Given the description of an element on the screen output the (x, y) to click on. 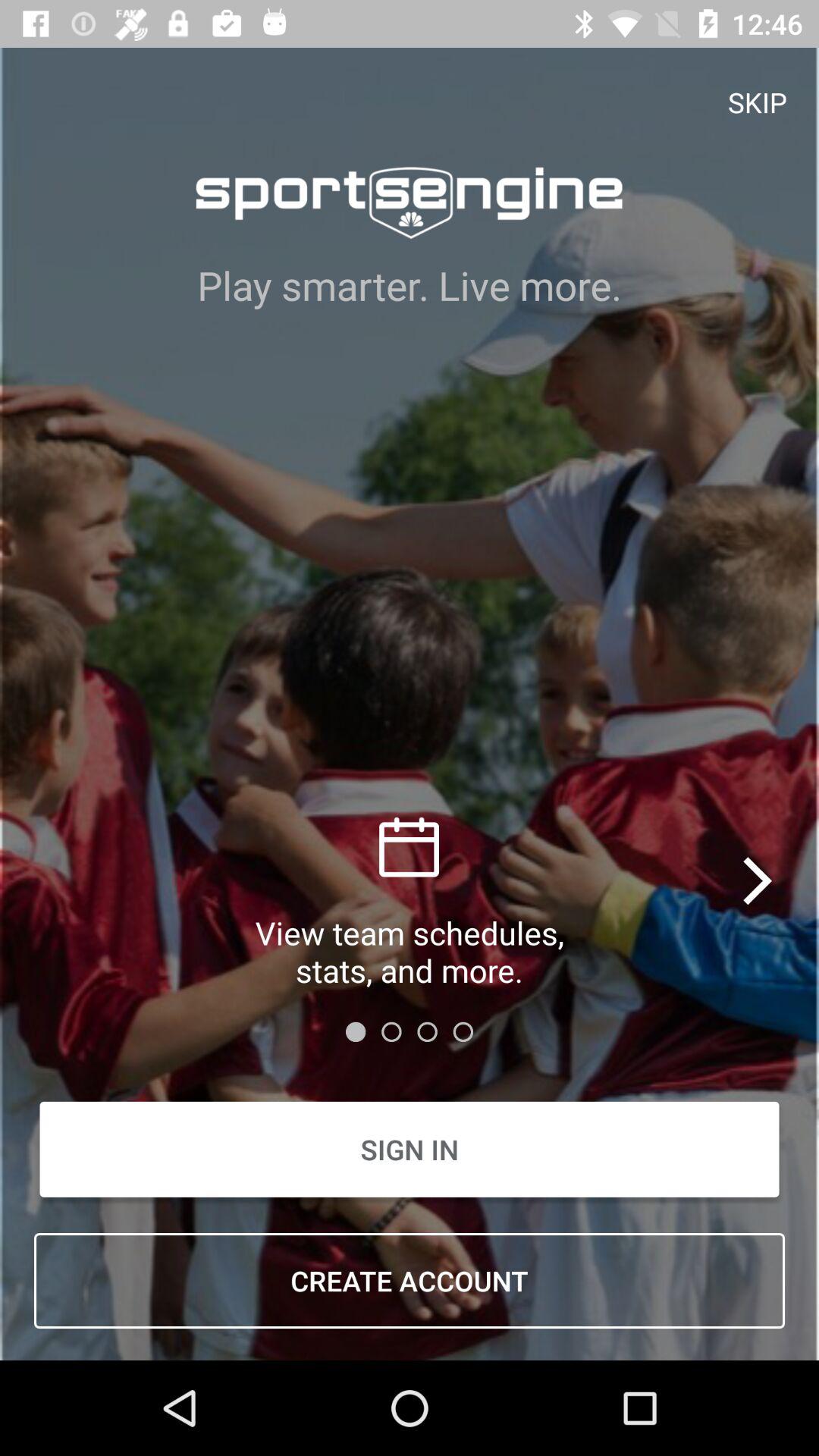
swipe until sign in item (409, 1149)
